Given the description of an element on the screen output the (x, y) to click on. 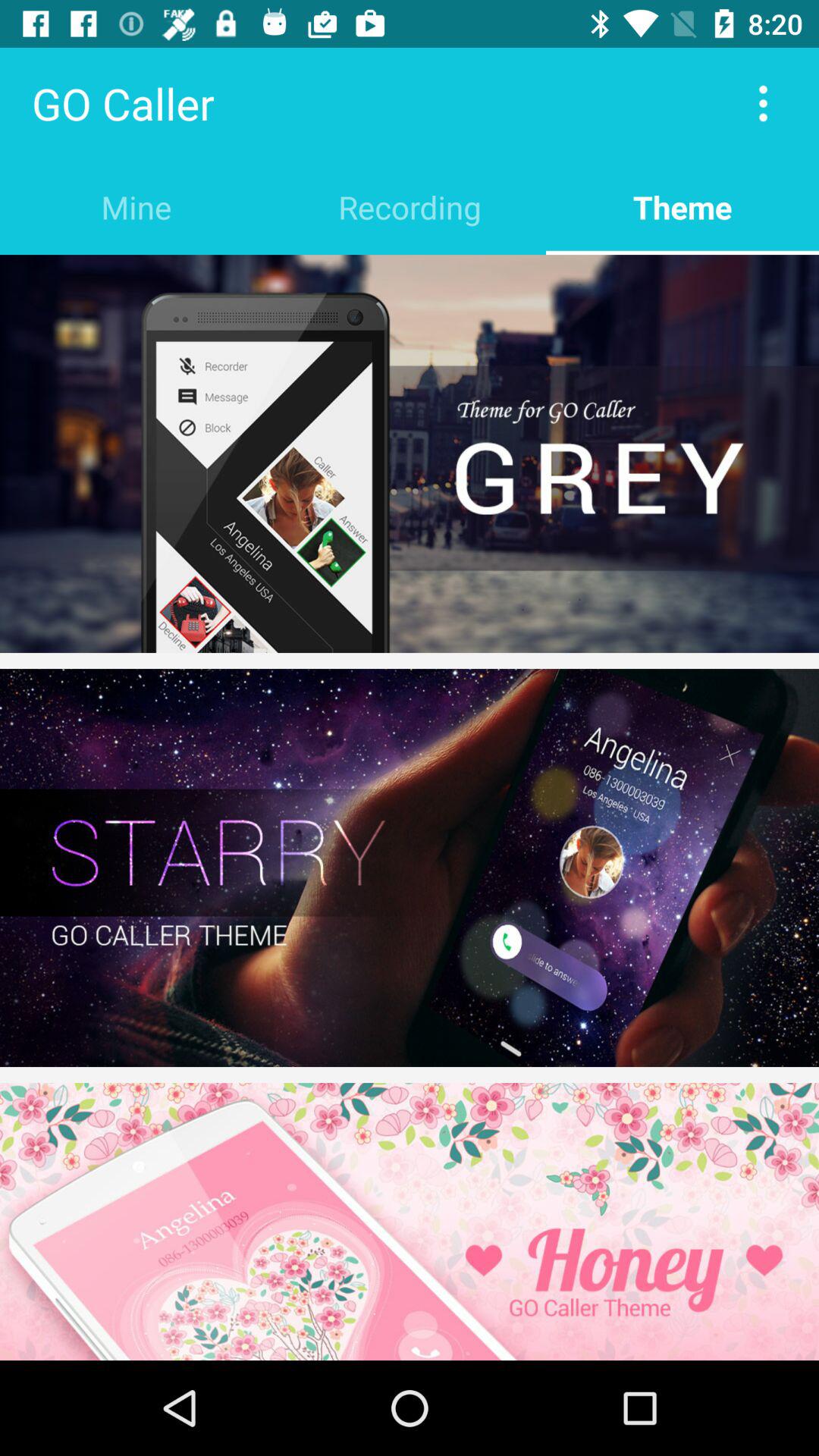
press the theme item (682, 206)
